Given the description of an element on the screen output the (x, y) to click on. 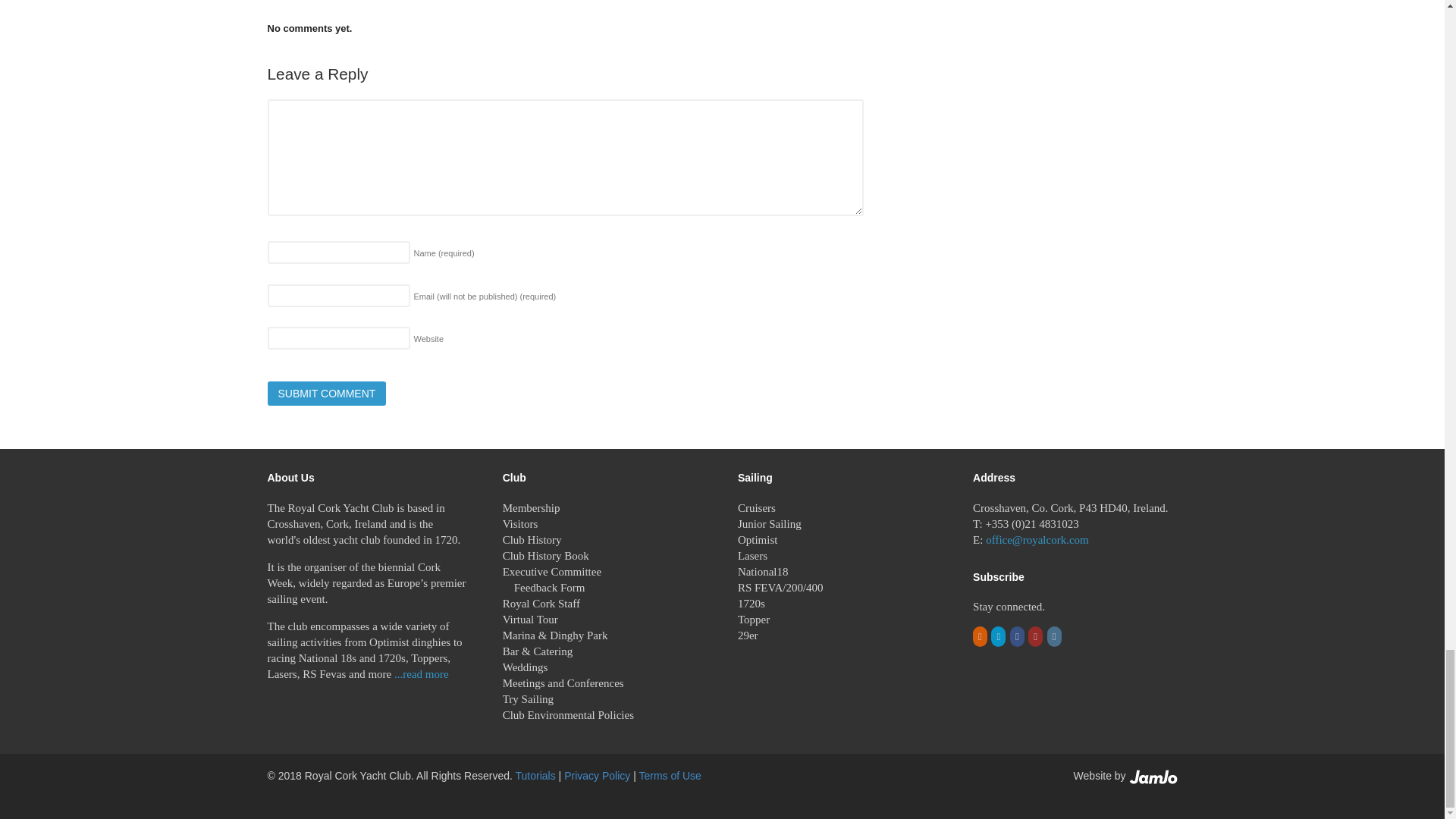
Submit Comment (325, 393)
